Given the description of an element on the screen output the (x, y) to click on. 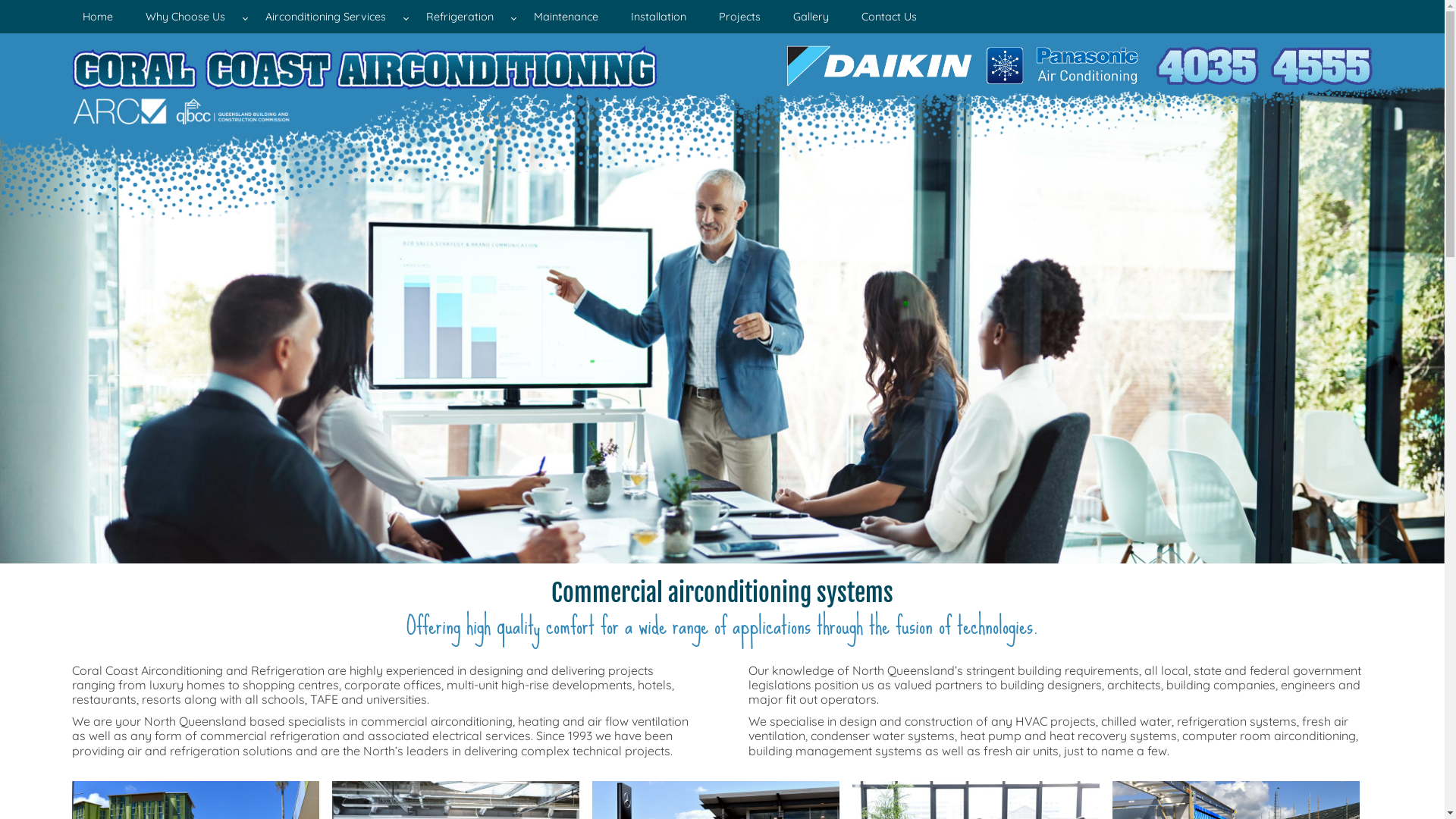
Why Choose Us Element type: text (188, 16)
Gallery Element type: text (810, 16)
Airconditioning Services Element type: text (329, 16)
Maintenance Element type: text (565, 16)
Projects Element type: text (739, 16)
Home Element type: text (97, 16)
Contact Us Element type: text (888, 16)
Refrigeration Element type: text (463, 16)
Installation Element type: text (658, 16)
